Given the description of an element on the screen output the (x, y) to click on. 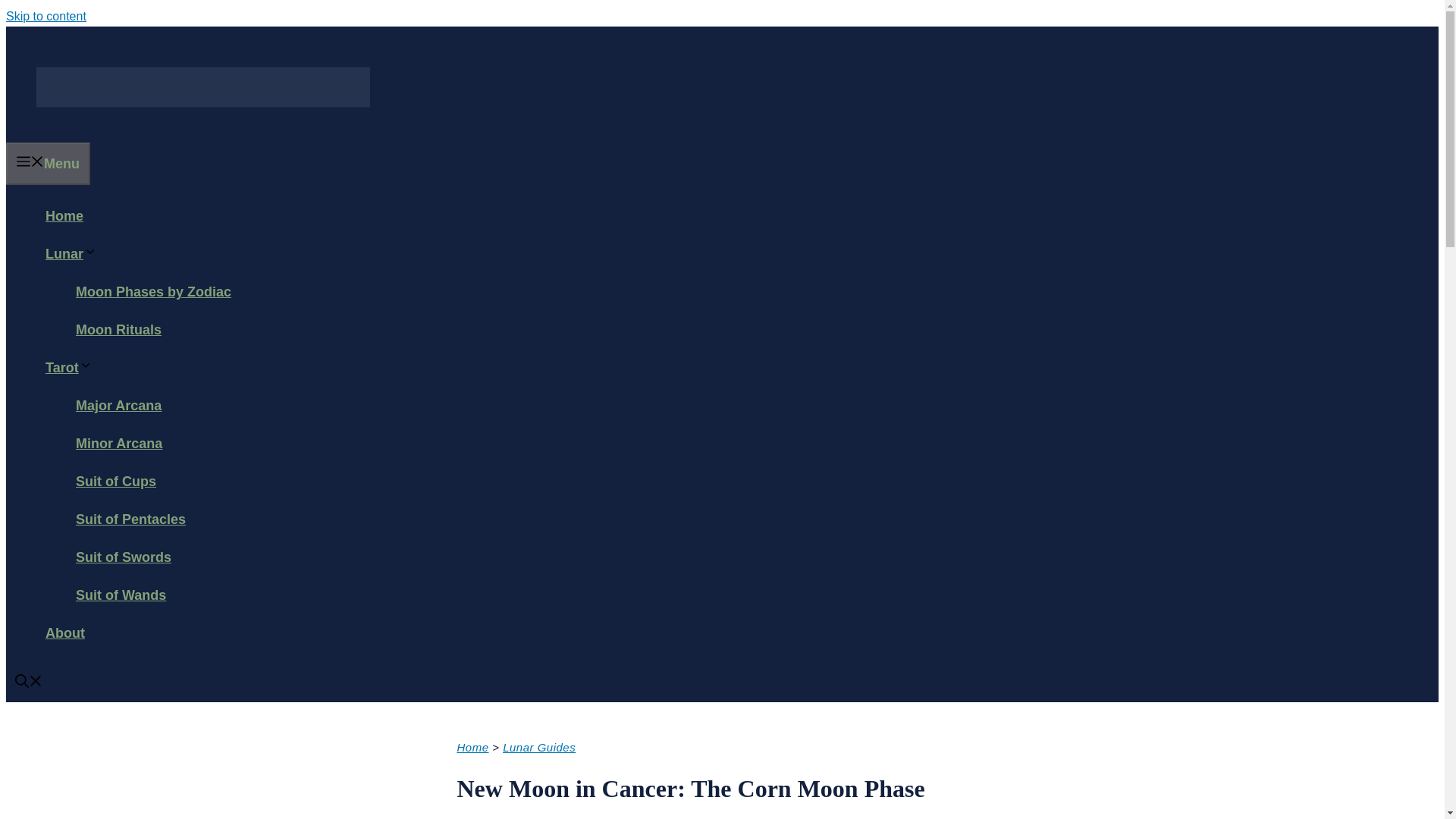
Suit of Pentacles (130, 519)
Moon Phases by Zodiac (153, 291)
Home (64, 215)
Home (472, 747)
Menu (47, 163)
Suit of Cups (115, 481)
Minor Arcana (118, 443)
Moon Rituals (118, 329)
Major Arcana (118, 405)
Skip to content (45, 15)
Tarot (73, 367)
Suit of Swords (123, 557)
Suit of Wands (120, 594)
Skip to content (45, 15)
Lunar (75, 253)
